Given the description of an element on the screen output the (x, y) to click on. 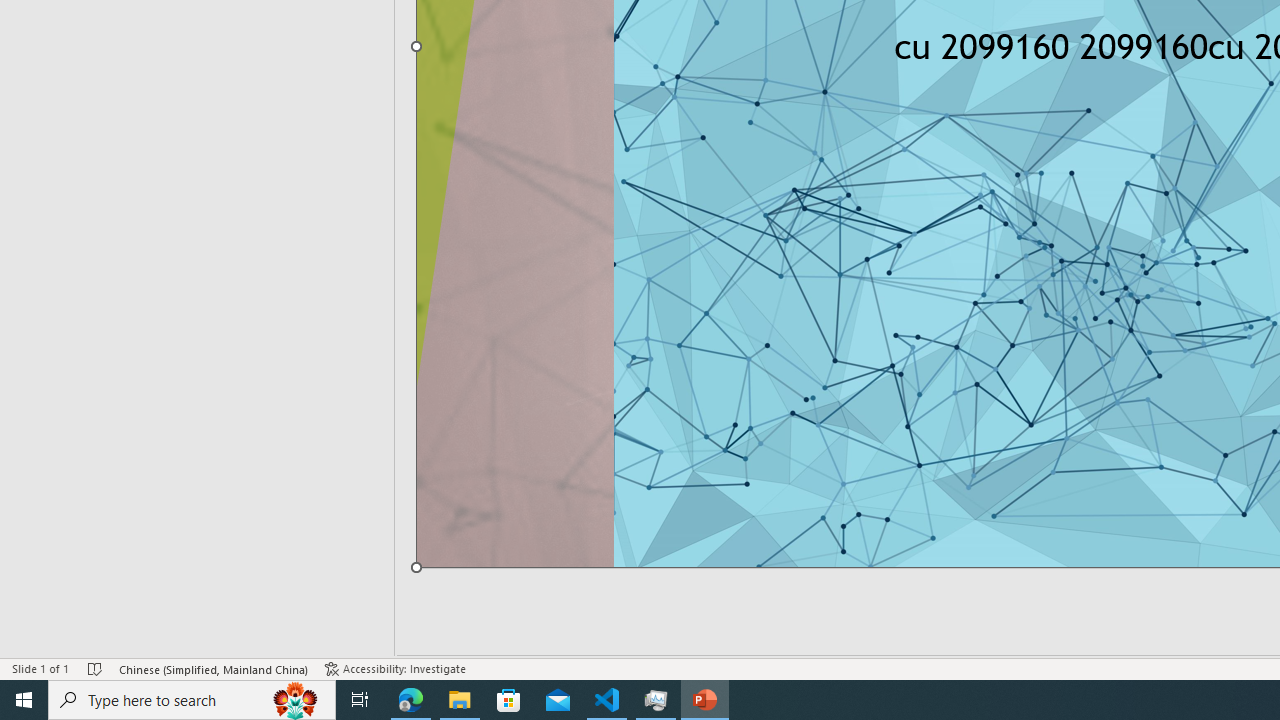
Task Manager - 1 running window (656, 699)
File Explorer - 1 running window (460, 699)
